Given the description of an element on the screen output the (x, y) to click on. 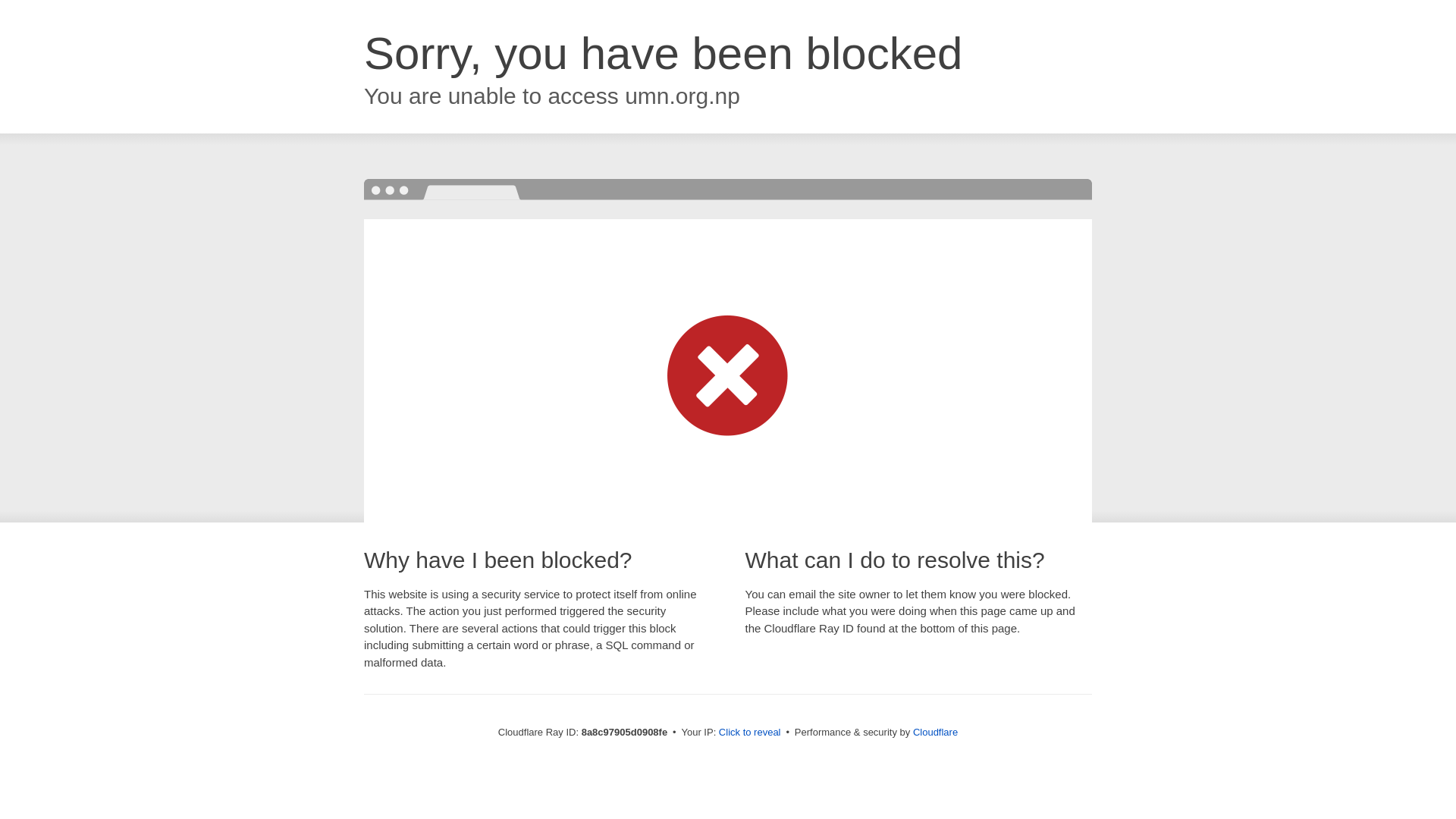
Click to reveal (749, 732)
Cloudflare (935, 731)
